Given the description of an element on the screen output the (x, y) to click on. 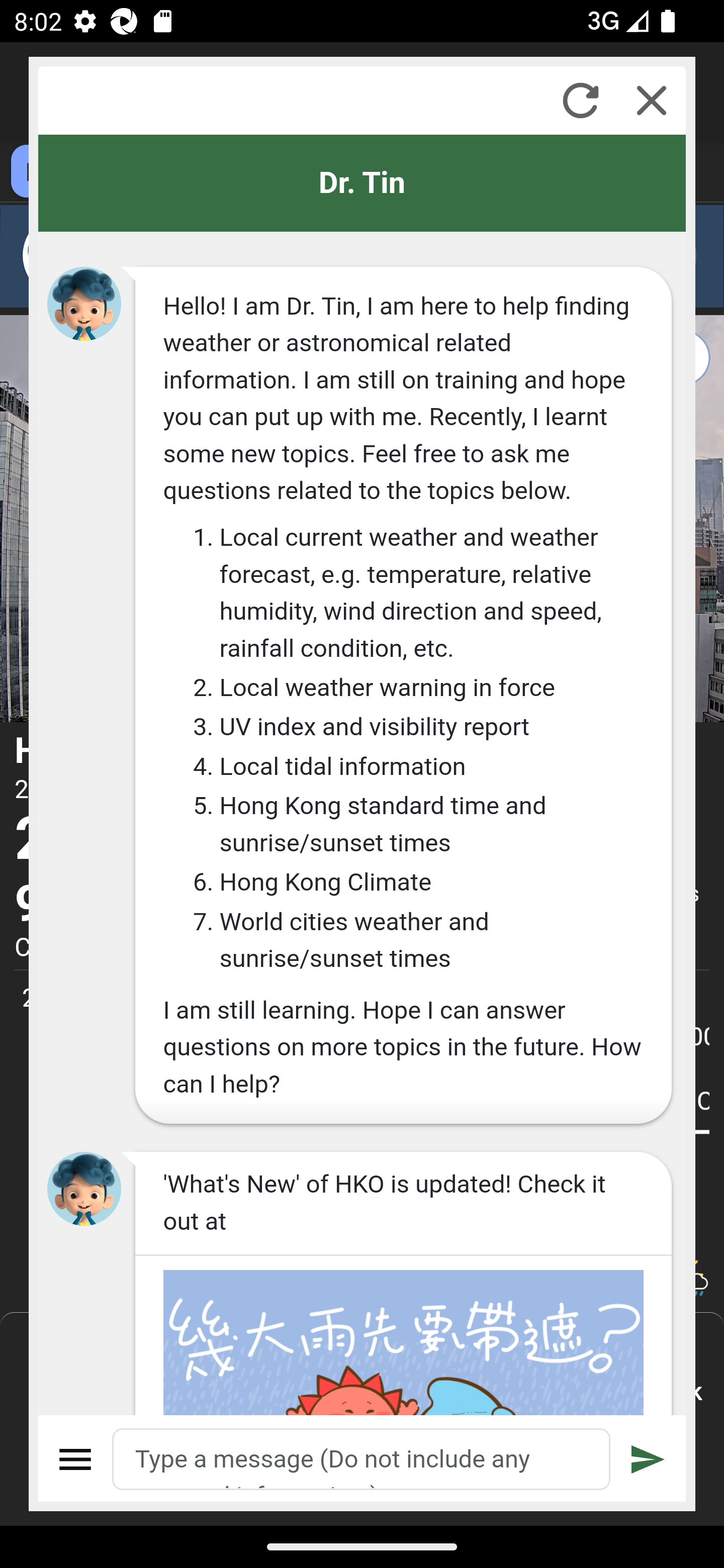
Refresh (580, 100)
Close (651, 100)
Menu (75, 1458)
Submit (648, 1458)
